Given the description of an element on the screen output the (x, y) to click on. 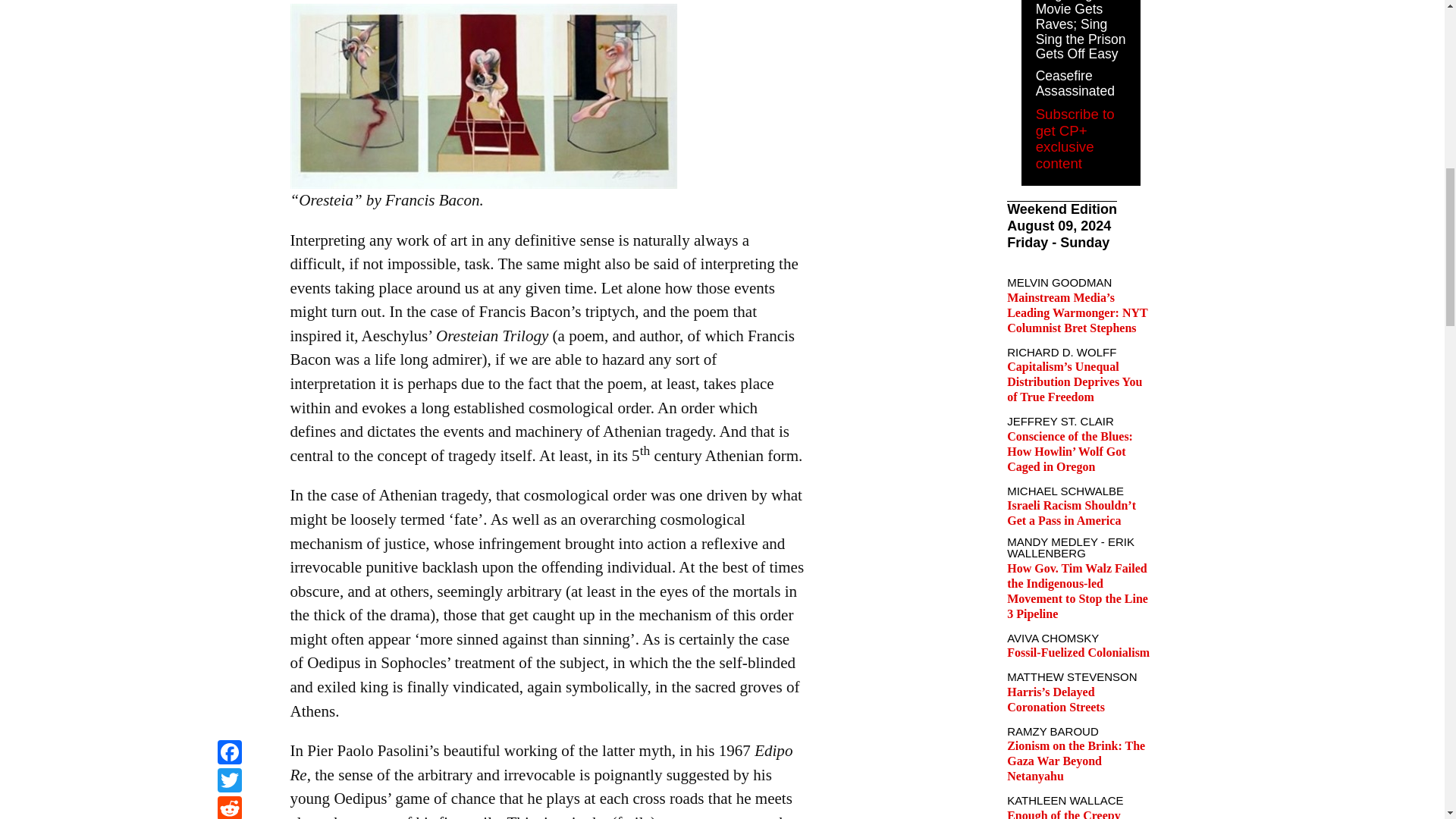
Email (229, 18)
Email (229, 18)
Reddit (229, 2)
Reddit (229, 2)
Ceasefire Assassinated (1075, 82)
